Given the description of an element on the screen output the (x, y) to click on. 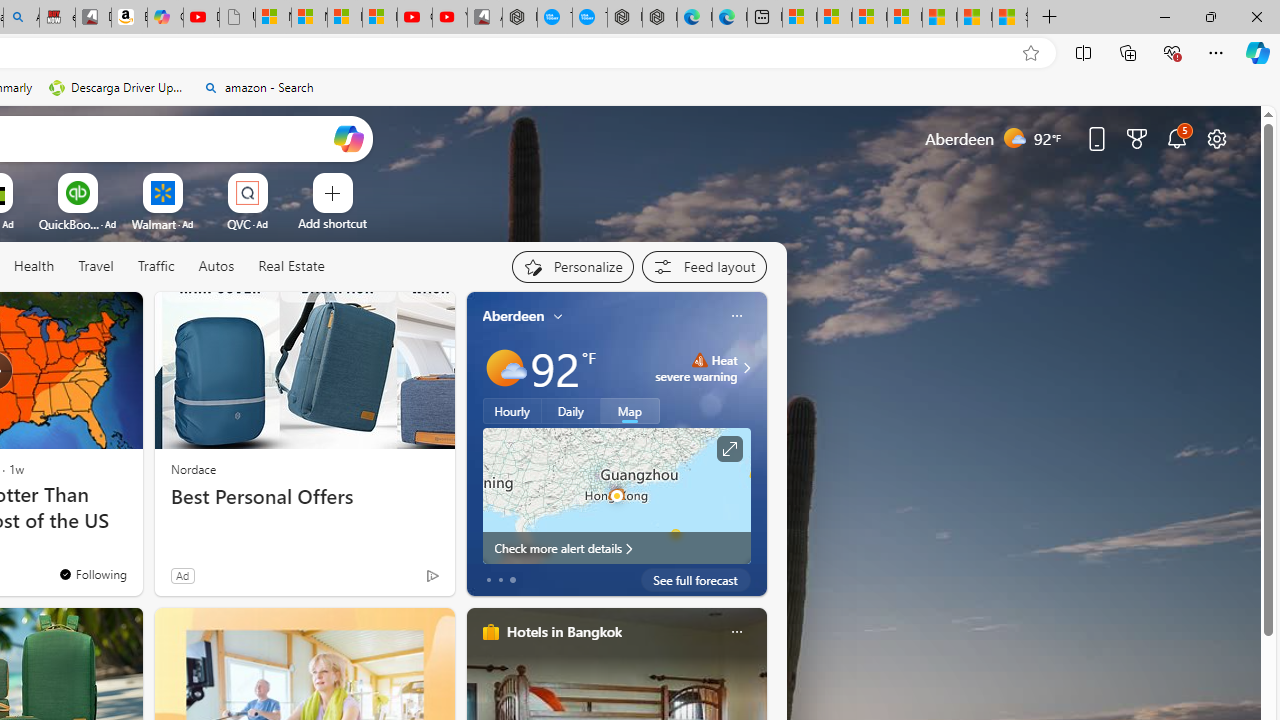
Travel (95, 267)
tab-0 (488, 579)
Class: weather-arrow-glyph (746, 367)
Microsoft account | Privacy (904, 17)
Browser essentials (1171, 52)
Traffic (155, 265)
Best Personal Offers (304, 497)
Page settings (1216, 138)
YouTube Kids - An App Created for Kids to Explore Content (449, 17)
I Gained 20 Pounds of Muscle in 30 Days! | Watch (974, 17)
Add this page to favorites (Ctrl+D) (1030, 53)
